Given the description of an element on the screen output the (x, y) to click on. 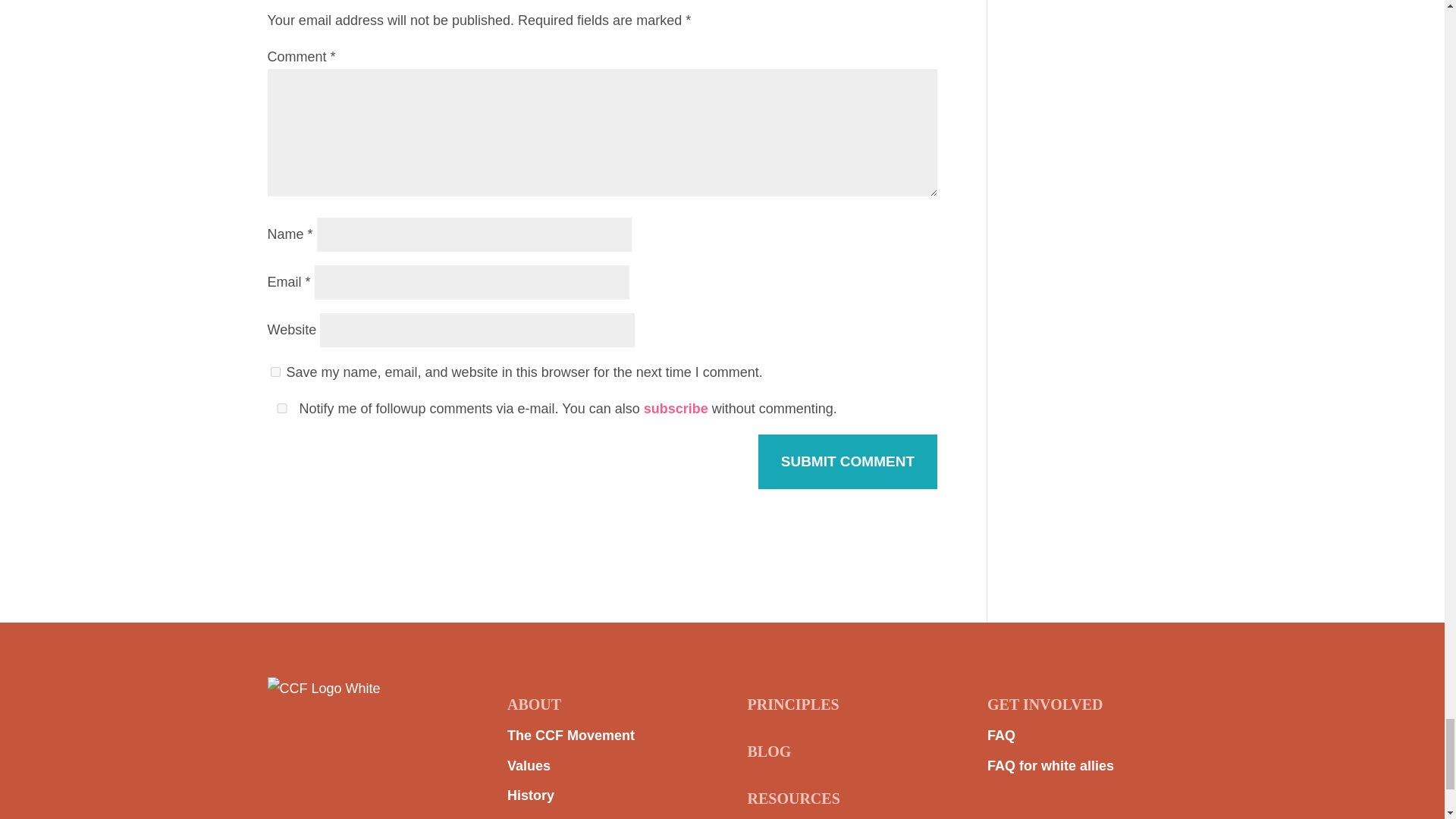
Submit Comment (847, 461)
yes (274, 371)
yes (280, 408)
